Given the description of an element on the screen output the (x, y) to click on. 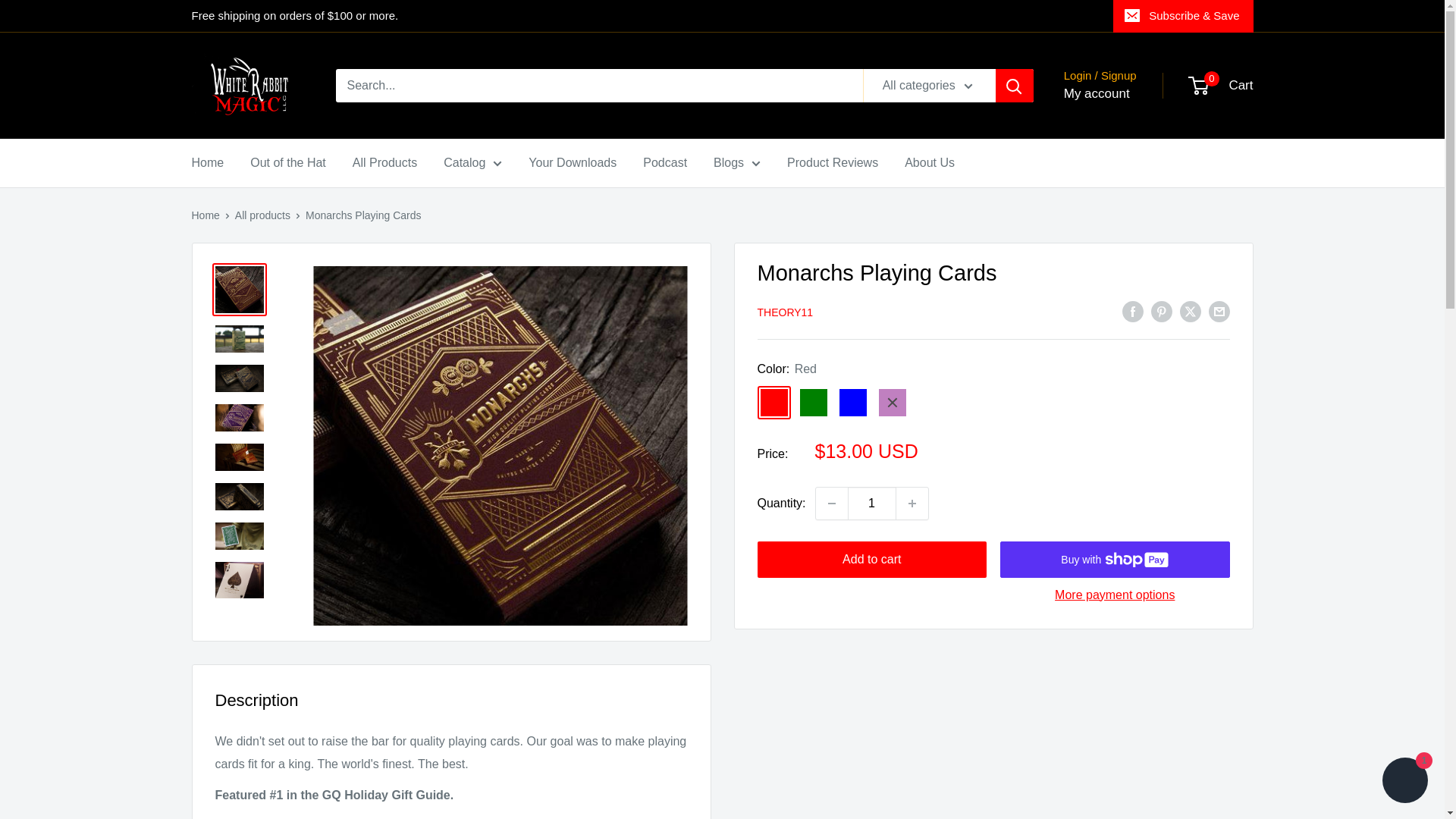
Increase quantity by 1 (912, 503)
Shopify online store chat (1404, 781)
Red (773, 402)
green (813, 402)
Decrease quantity by 1 (831, 503)
Purple (891, 402)
Blue (852, 402)
1 (871, 503)
